Given the description of an element on the screen output the (x, y) to click on. 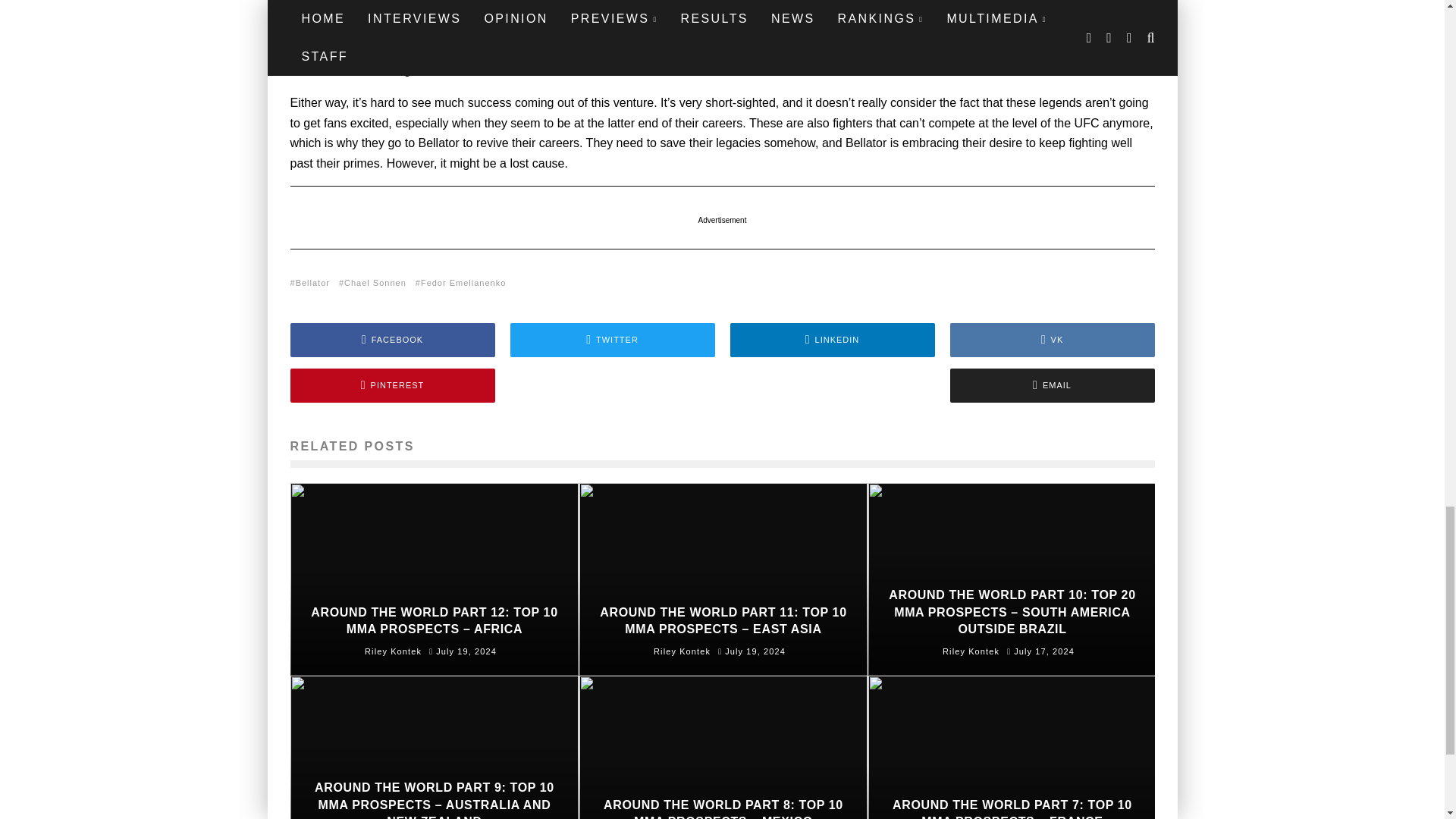
Posts by Riley Kontek (393, 651)
Posts by Riley Kontek (681, 651)
Posts by Riley Kontek (970, 651)
